Given the description of an element on the screen output the (x, y) to click on. 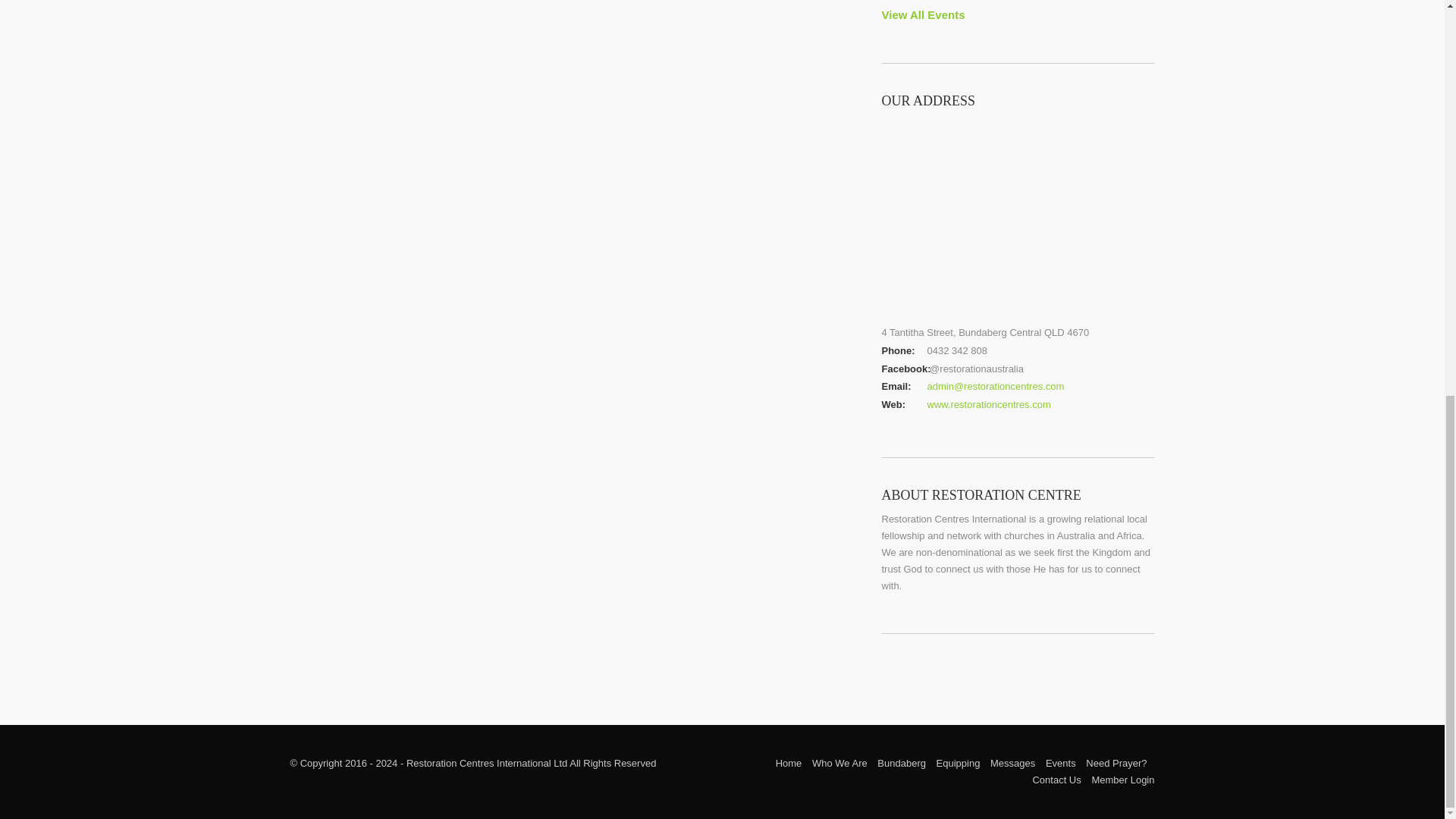
Events (1060, 763)
Bundaberg (901, 763)
Home (789, 763)
Who We Are (839, 763)
View All Events (921, 14)
Messages (1012, 763)
Equipping (957, 763)
www.restorationcentres.com (987, 404)
